Given the description of an element on the screen output the (x, y) to click on. 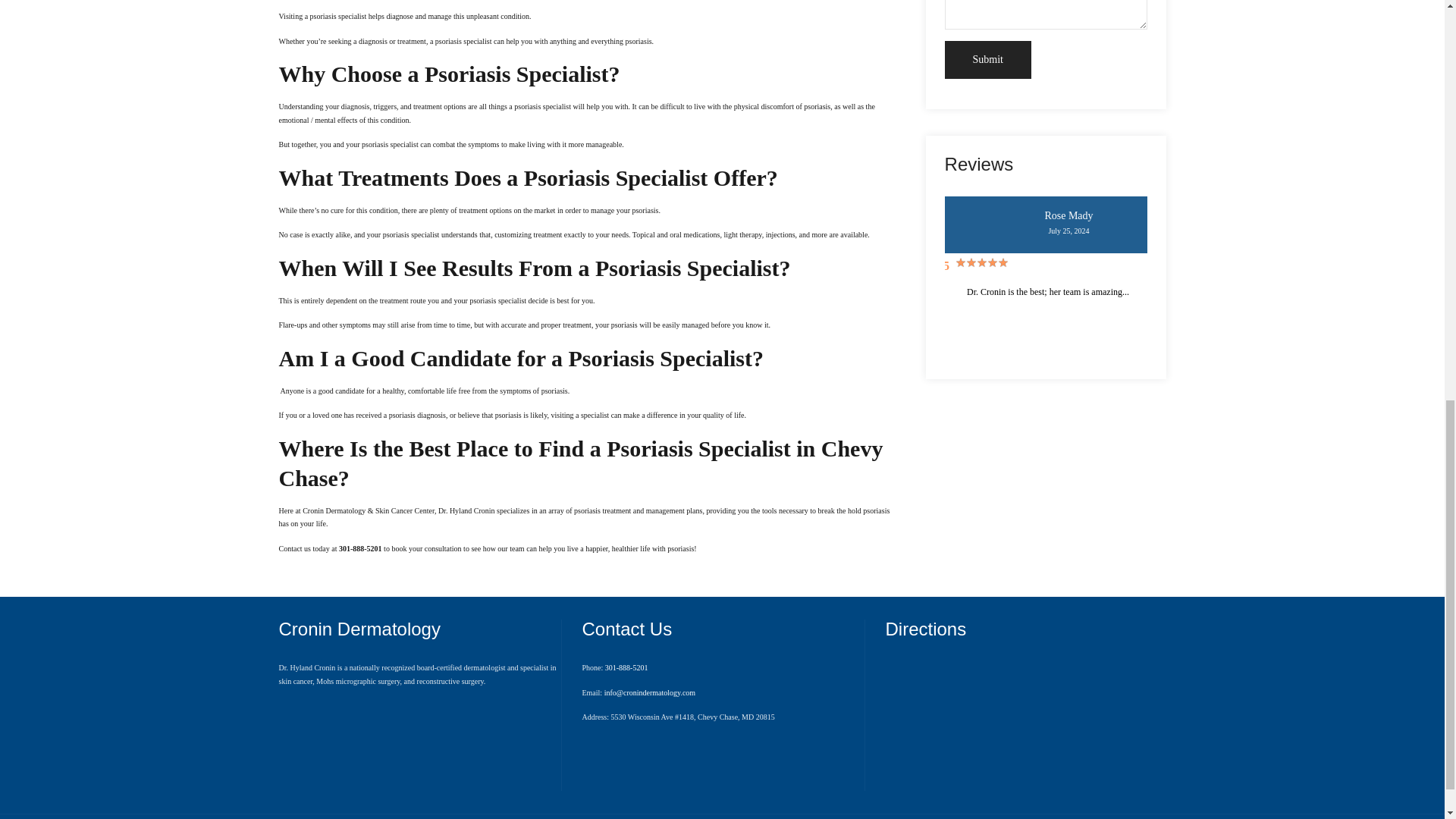
Submit (987, 59)
